Given the description of an element on the screen output the (x, y) to click on. 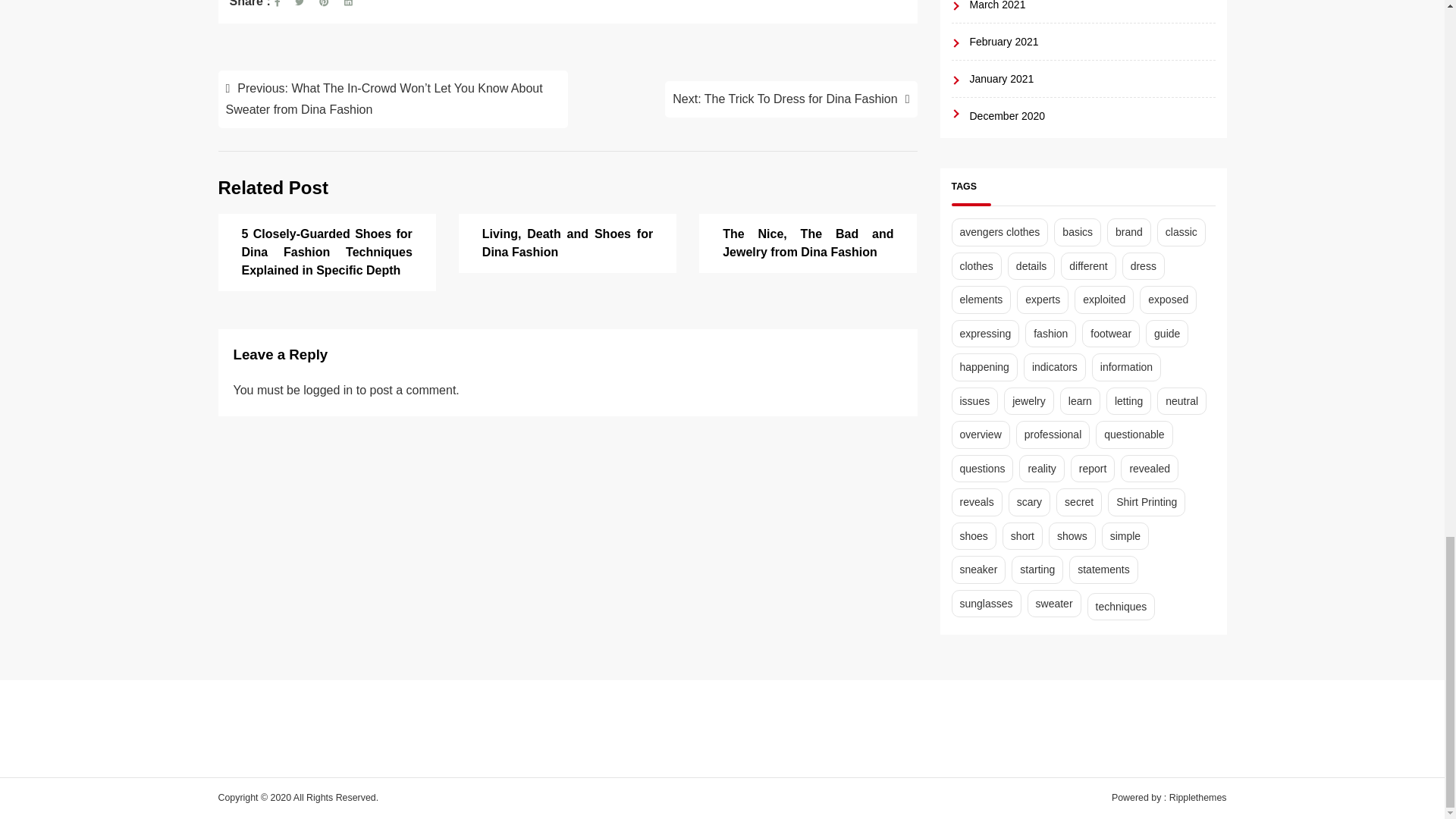
The Nice, The Bad and Jewelry from Dina Fashion (807, 244)
Next: The Trick To Dress for Dina Fashion (791, 99)
logged in (327, 390)
Living, Death and Shoes for Dina Fashion (566, 244)
